Given the description of an element on the screen output the (x, y) to click on. 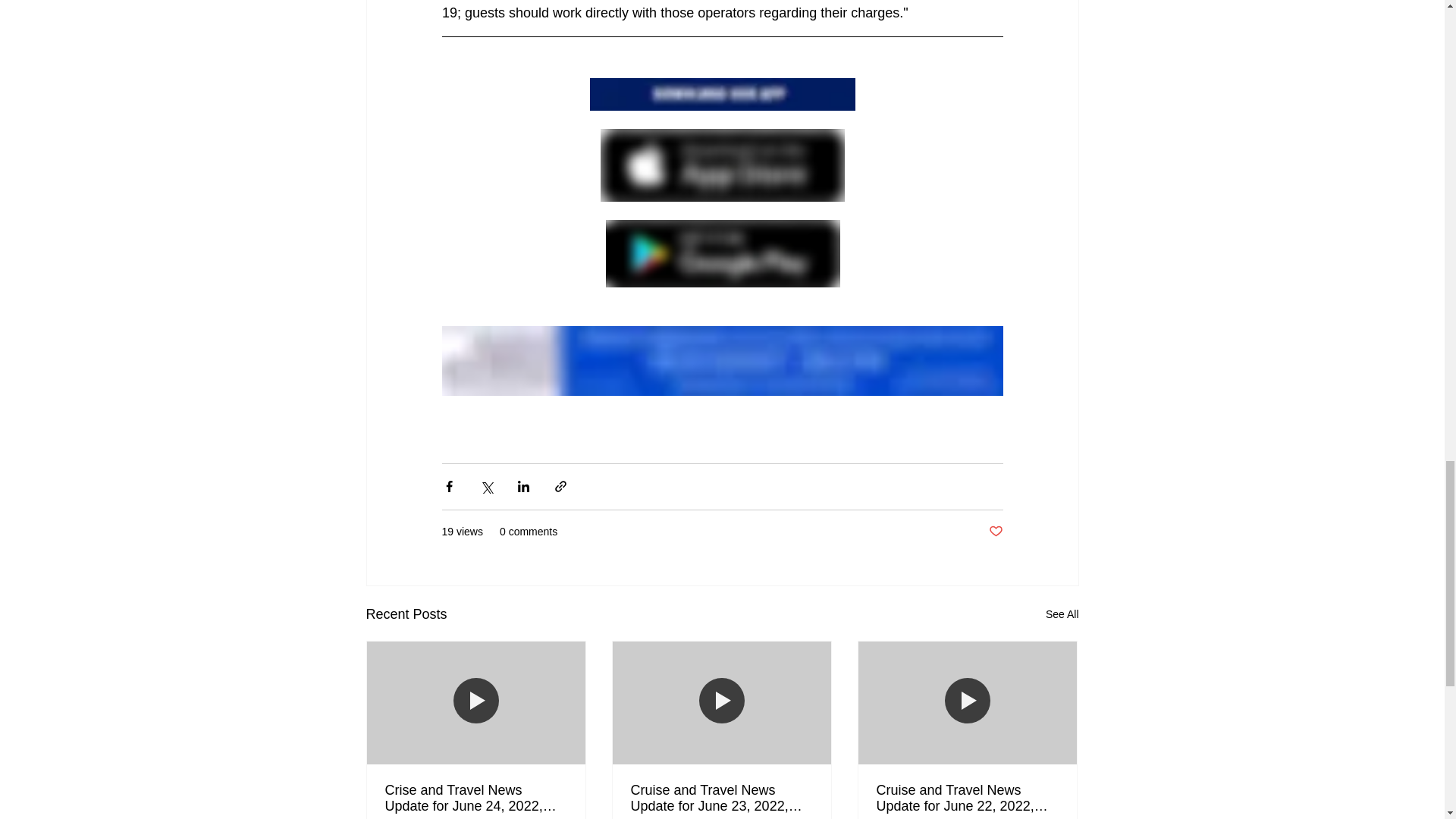
Post not marked as liked (995, 531)
See All (1061, 614)
